Given the description of an element on the screen output the (x, y) to click on. 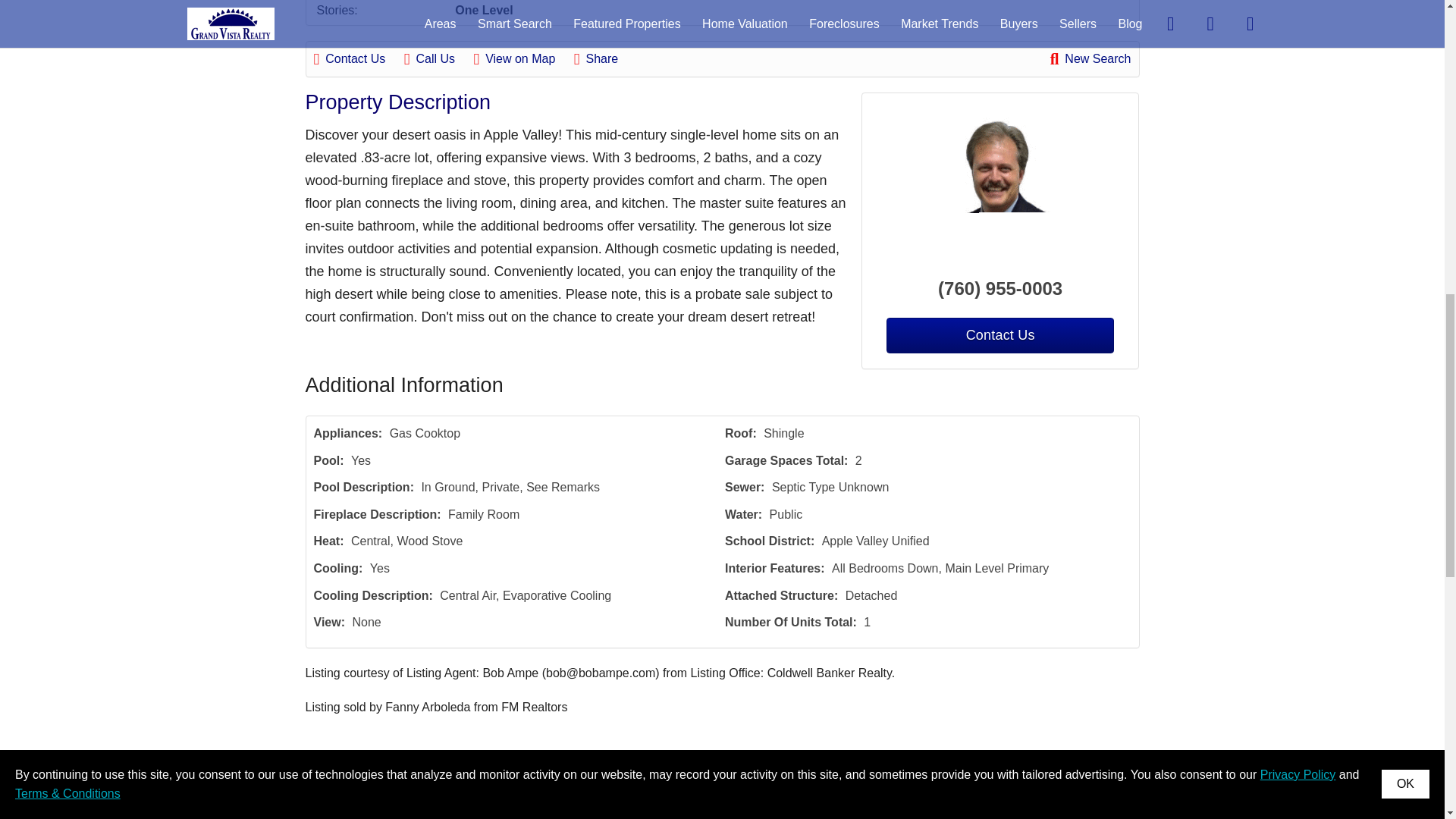
Contact Us (999, 334)
Call Us (437, 58)
New Search (1090, 58)
View on Map (521, 58)
Contact Us (357, 58)
Share (603, 58)
